Given the description of an element on the screen output the (x, y) to click on. 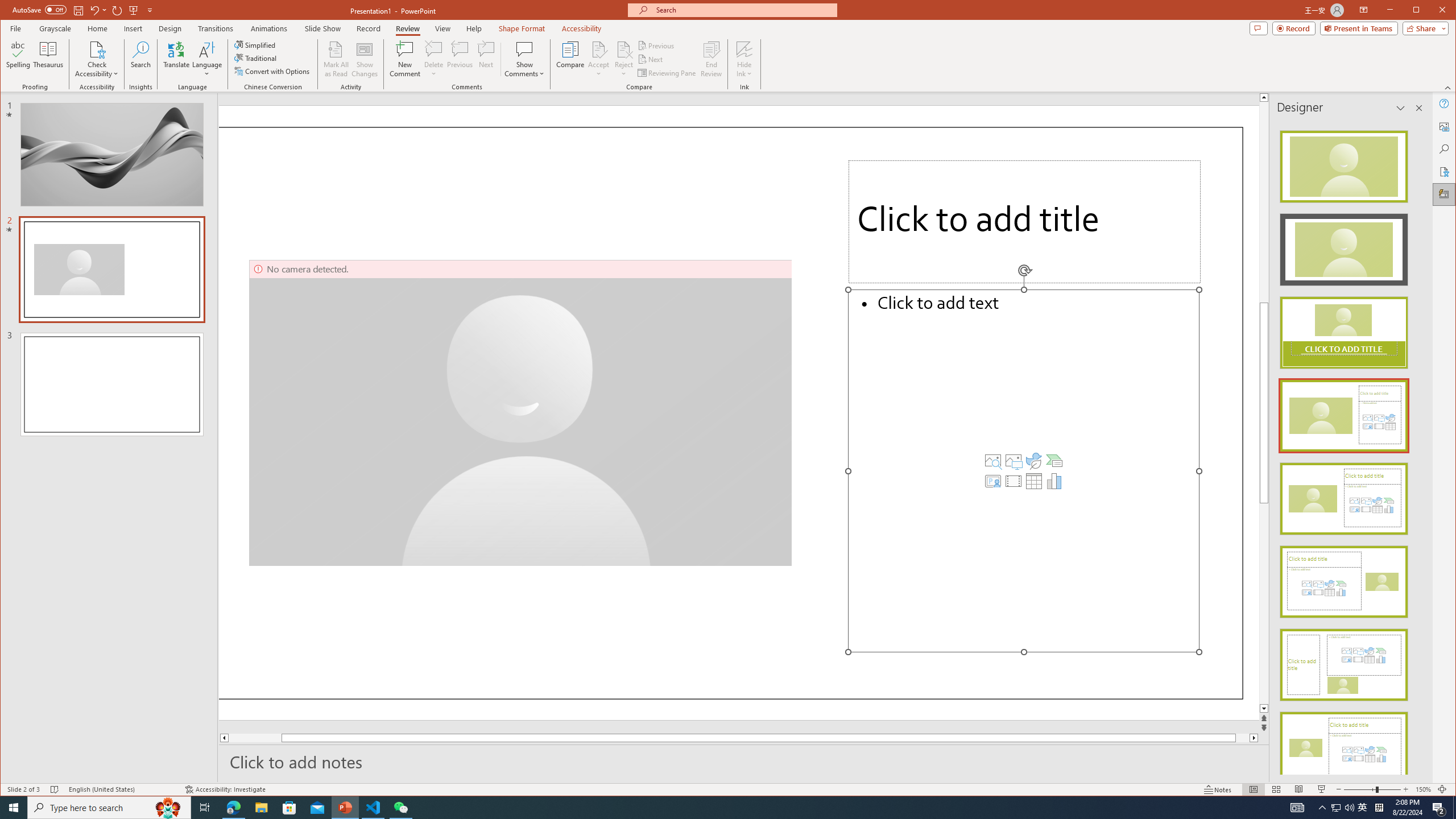
Insert an Icon (1033, 460)
Content Placeholder (1023, 470)
